Given the description of an element on the screen output the (x, y) to click on. 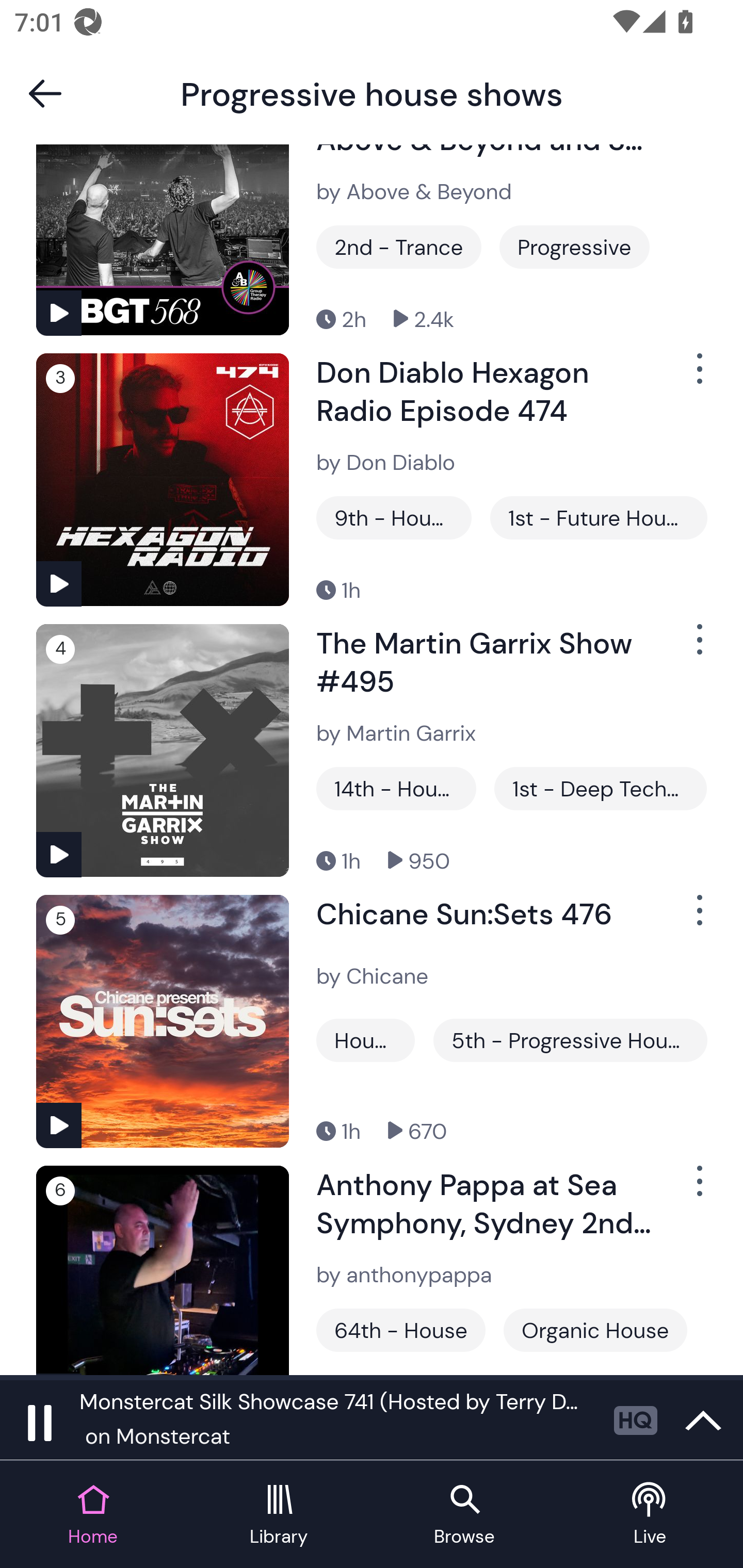
2nd - Trance (398, 246)
Progressive (574, 246)
Show Options Menu Button (697, 375)
9th - House (393, 517)
1st - Future House (598, 517)
Show Options Menu Button (697, 647)
14th - House (396, 788)
1st - Deep Techno (600, 788)
Show Options Menu Button (697, 918)
House (365, 1040)
5th - Progressive House (569, 1040)
Show Options Menu Button (697, 1188)
64th - House (400, 1330)
Organic House (595, 1330)
Home tab Home (92, 1515)
Library tab Library (278, 1515)
Browse tab Browse (464, 1515)
Live tab Live (650, 1515)
